Given the description of an element on the screen output the (x, y) to click on. 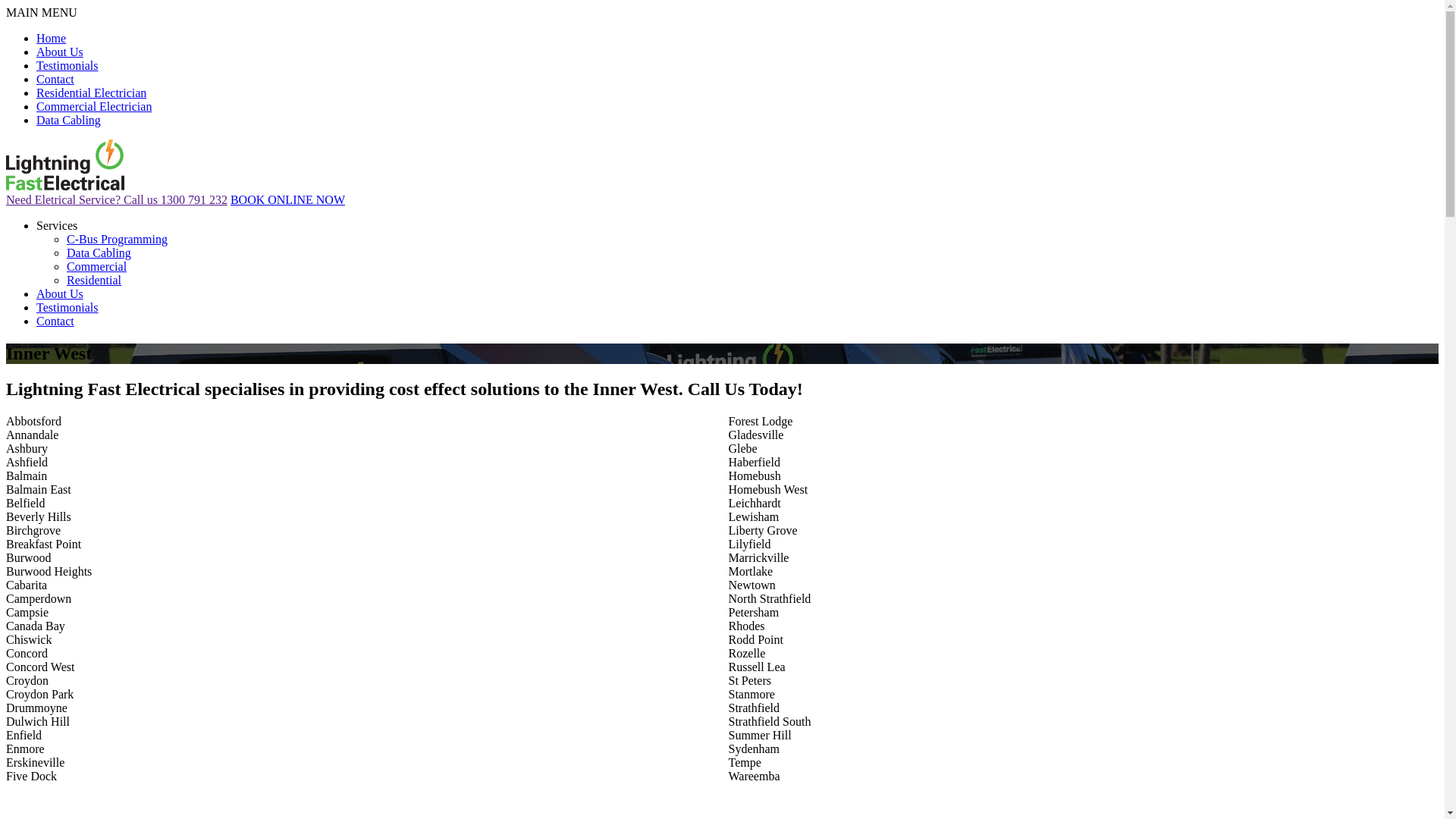
Need Eletrical Service? Call us 1300 791 232 Element type: text (116, 199)
About Us Element type: text (59, 51)
Contact Element type: text (55, 320)
Data Cabling Element type: text (68, 119)
Residential Electrician Element type: text (91, 92)
Services Element type: text (56, 225)
Residential Element type: text (93, 279)
Testimonials Element type: text (67, 65)
Testimonials Element type: text (67, 307)
Commercial Electrician Element type: text (93, 106)
BOOK ONLINE NOW Element type: text (287, 199)
Data Cabling Element type: text (98, 252)
Contact Element type: text (55, 78)
About Us Element type: text (59, 293)
Commercial Element type: text (96, 266)
C-Bus Programming Element type: text (116, 238)
Home Element type: text (50, 37)
